Given the description of an element on the screen output the (x, y) to click on. 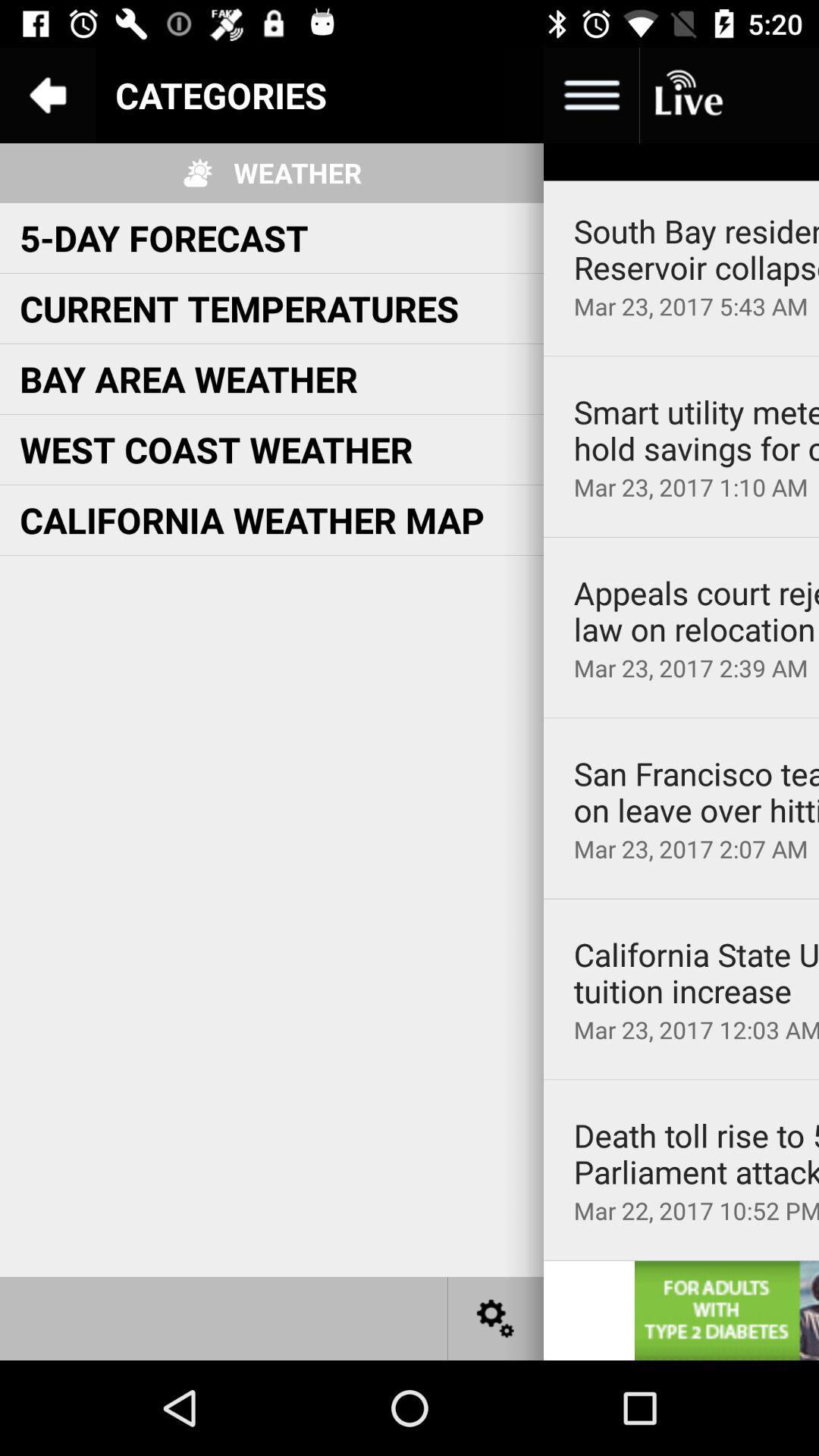
open live stream (687, 95)
